Given the description of an element on the screen output the (x, y) to click on. 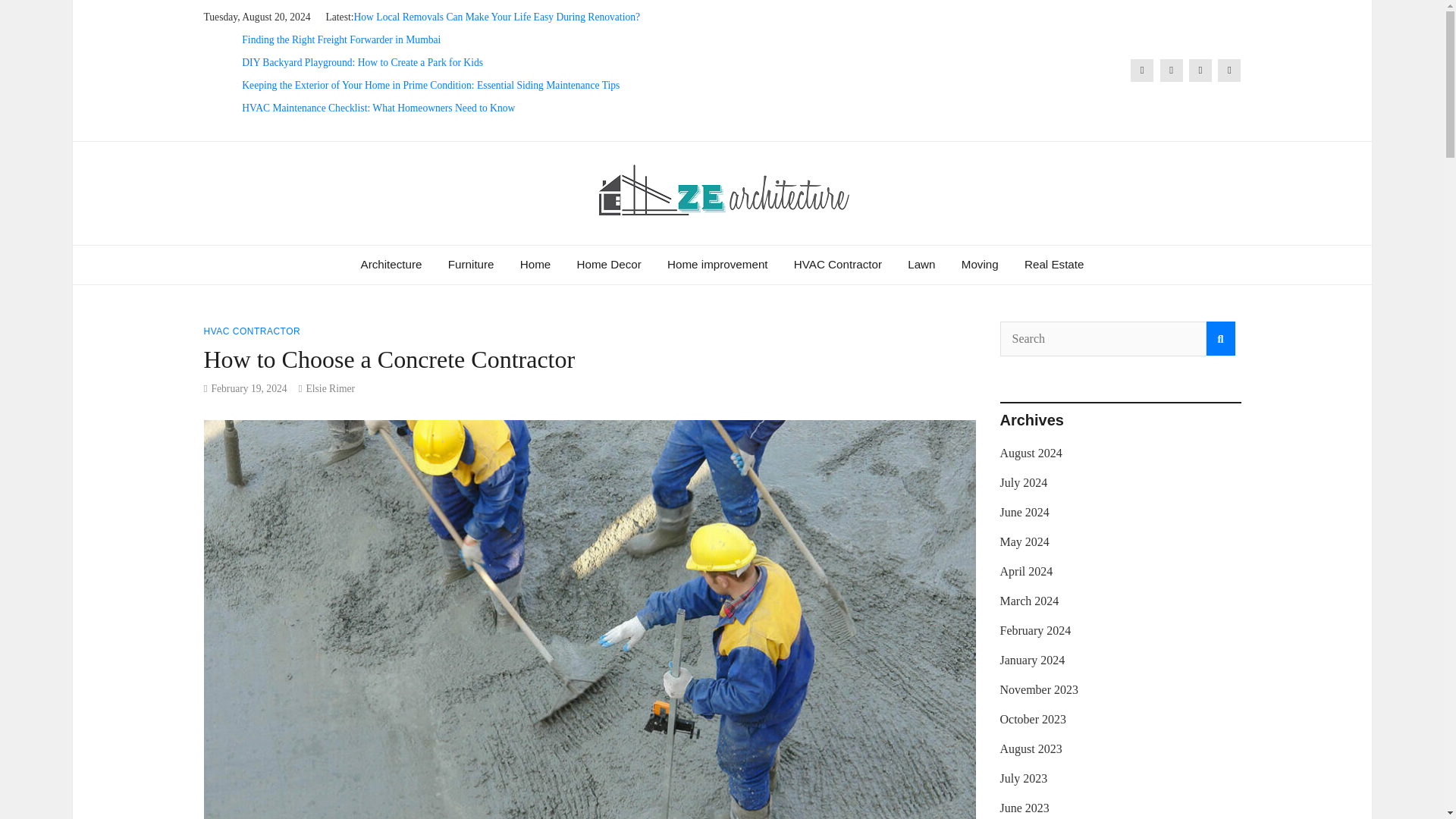
DIY Backyard Playground: How to Create a Park for Kids (362, 61)
Finding the Right Freight Forwarder in Mumbai (341, 39)
Moving (980, 264)
Home Decor (609, 264)
February 19, 2024 (248, 388)
HVAC Contractor (838, 264)
Home improvement (717, 264)
